Given the description of an element on the screen output the (x, y) to click on. 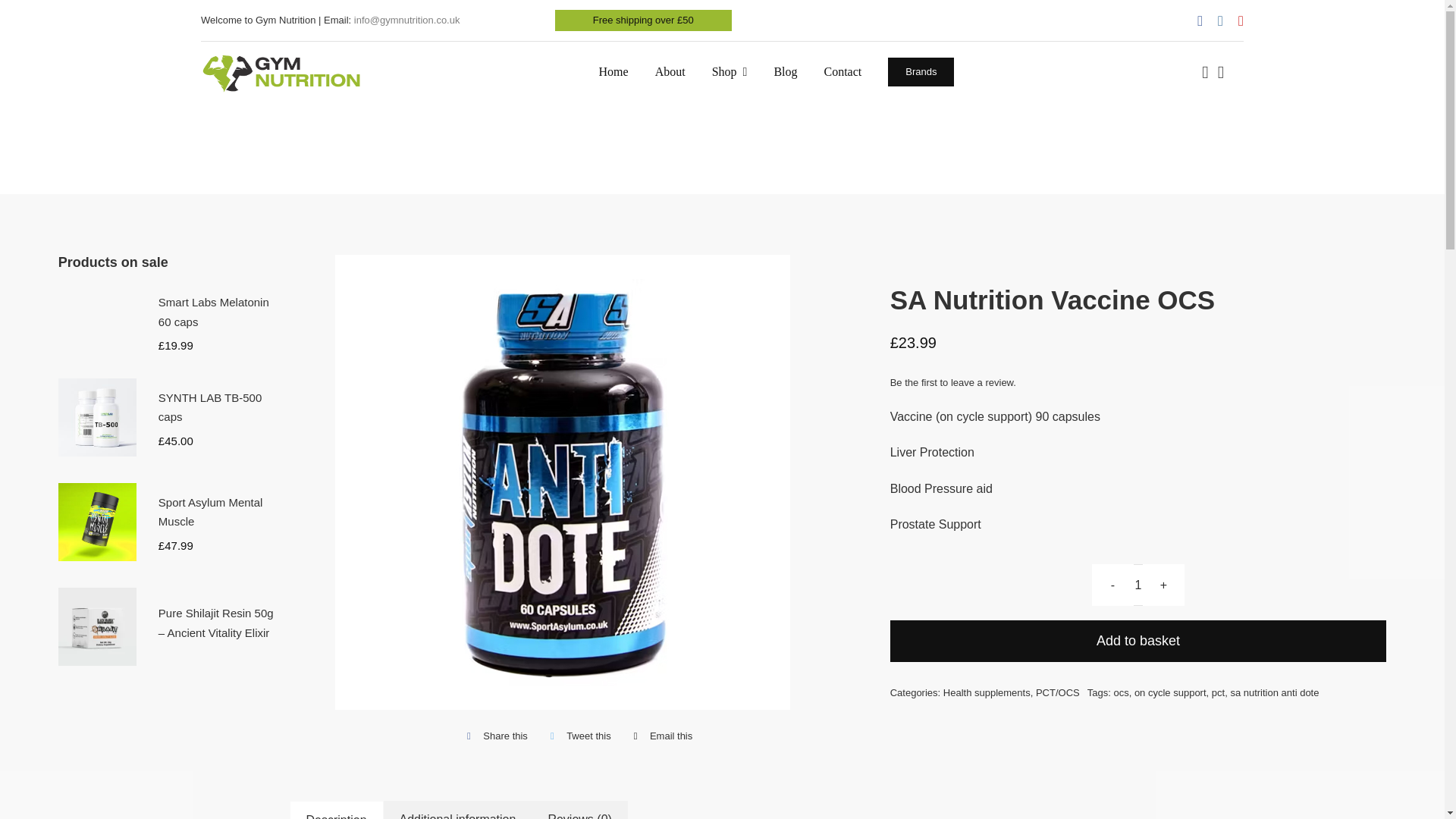
Blog (784, 71)
- (1113, 585)
Shop (729, 71)
shil (97, 626)
tb500 (97, 417)
Home (613, 71)
Contact (842, 71)
About (670, 71)
Brands (920, 71)
sport asylum mental muscle (97, 522)
